Given the description of an element on the screen output the (x, y) to click on. 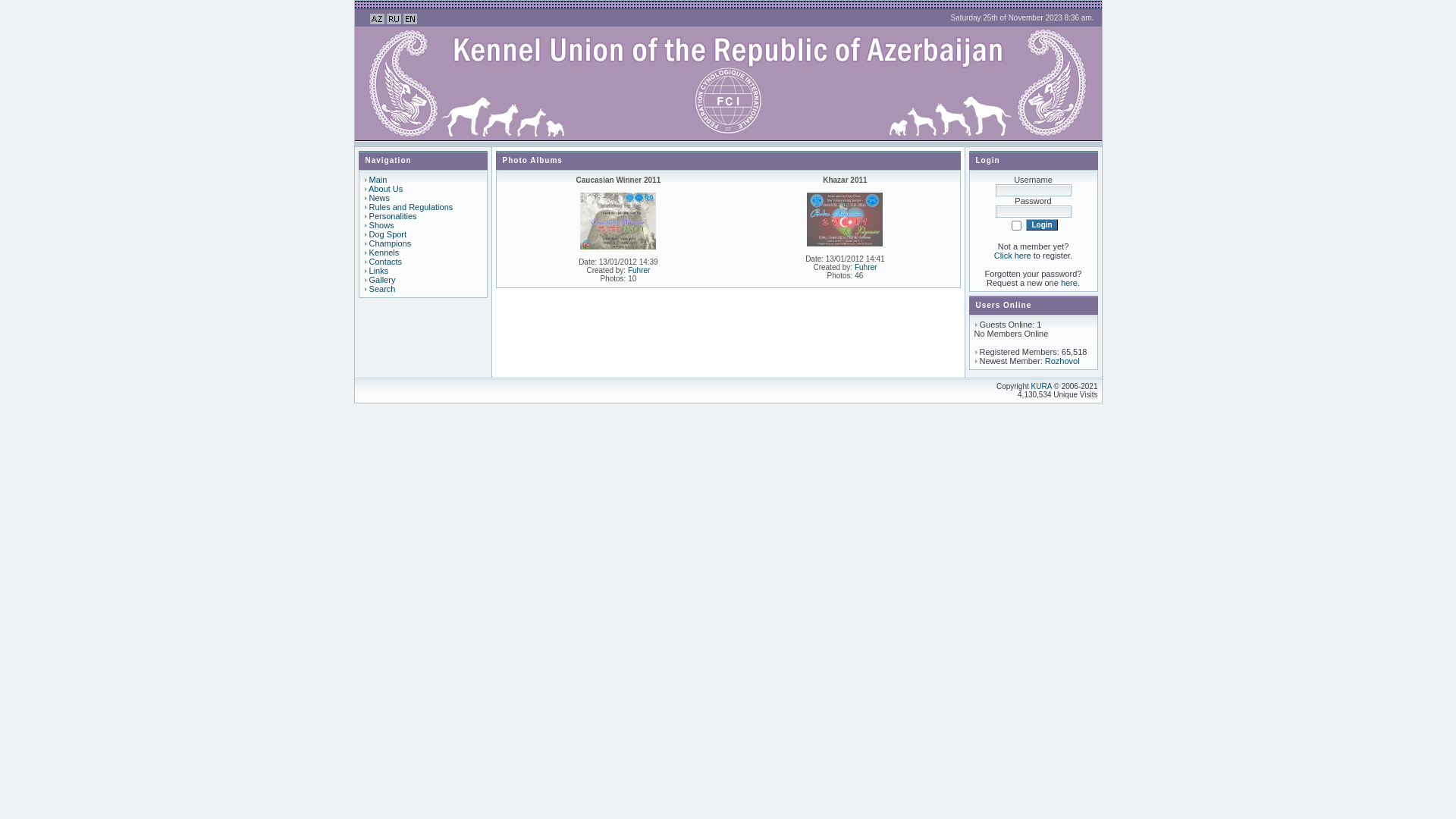
Click here Element type: text (1012, 255)
Dog Sport Element type: text (388, 233)
Personalities Element type: text (393, 215)
Fuhrer Element type: text (638, 270)
Gallery Element type: text (382, 279)
About Us Element type: text (385, 188)
Rozhovol Element type: text (1061, 360)
Remember Me Element type: hover (1016, 225)
KURA Element type: text (1041, 386)
Champions Element type: text (390, 242)
Fuhrer Element type: text (865, 267)
Login Element type: text (1041, 224)
Shows Element type: text (381, 224)
Kennels Element type: text (384, 252)
Rules and Regulations Element type: text (411, 206)
Contacts Element type: text (385, 261)
Main Element type: text (378, 179)
Search Element type: text (382, 288)
here Element type: text (1068, 282)
Open Album Element type: hover (617, 220)
News Element type: text (379, 197)
Open Album Element type: hover (844, 219)
Links Element type: text (379, 270)
